Given the description of an element on the screen output the (x, y) to click on. 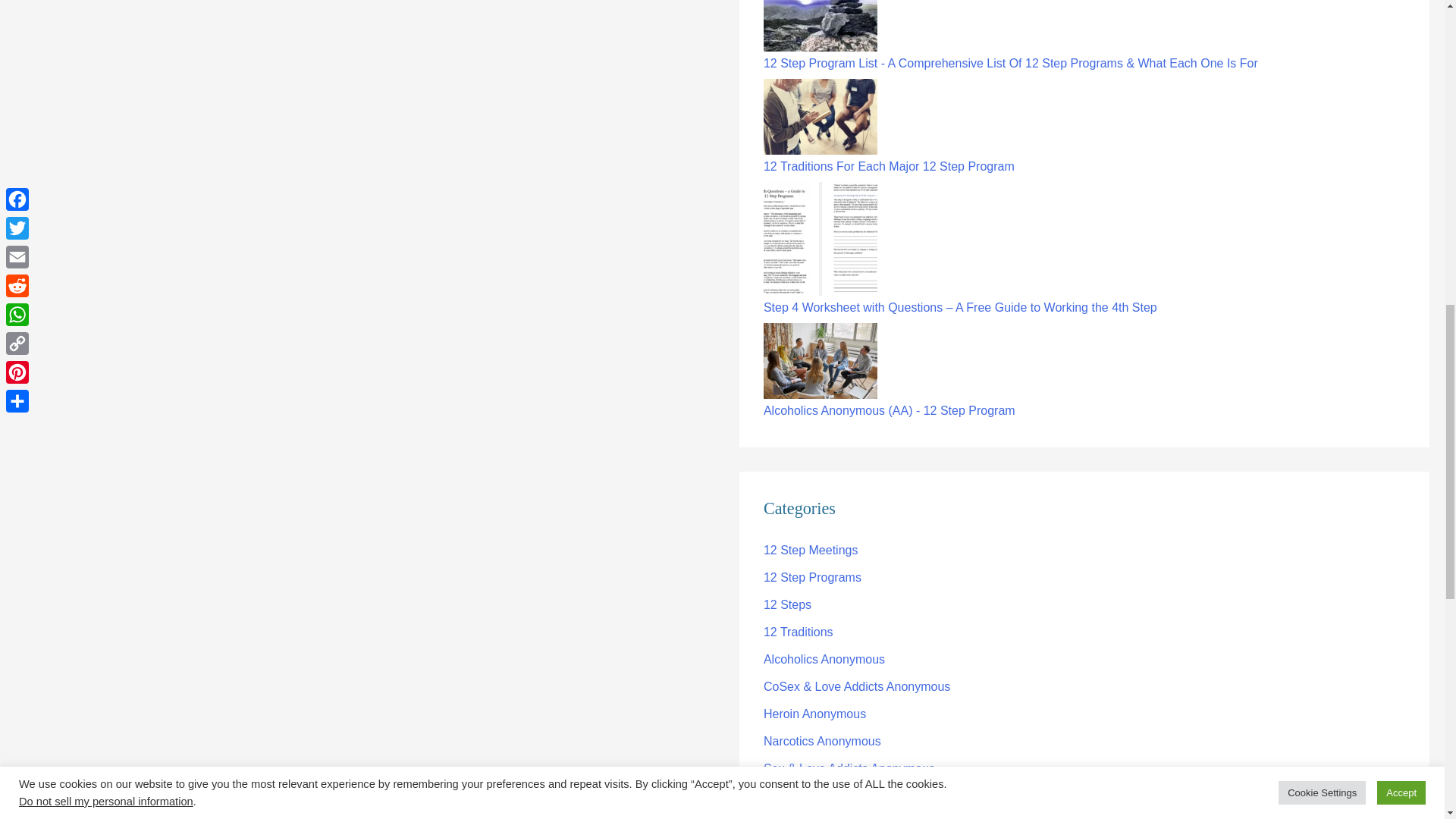
12 Traditions For Each Major 12 Step Program (819, 116)
